Given the description of an element on the screen output the (x, y) to click on. 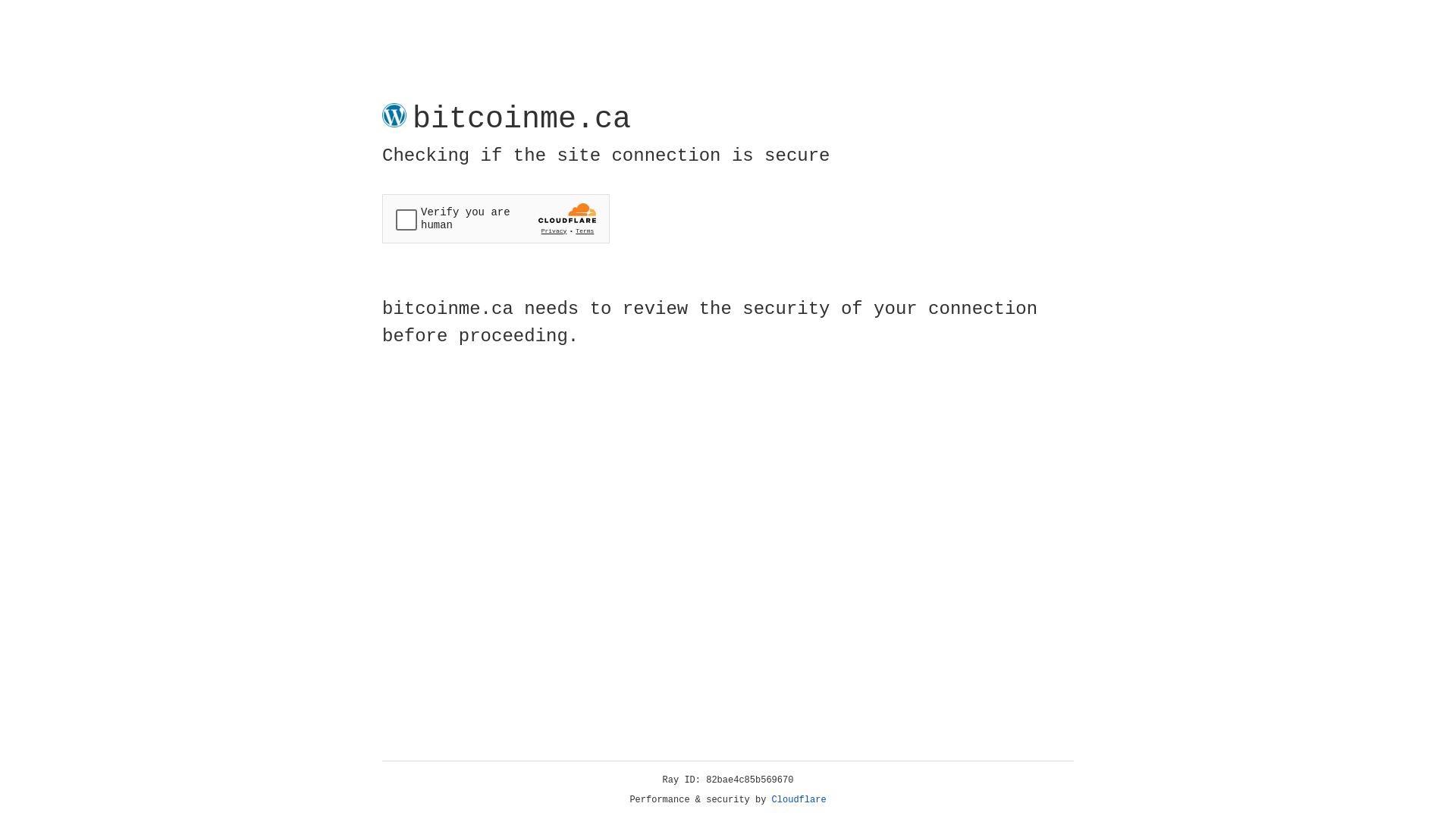
Widget containing a Cloudflare security challenge Element type: hover (495, 218)
Cloudflare Element type: text (798, 799)
